Given the description of an element on the screen output the (x, y) to click on. 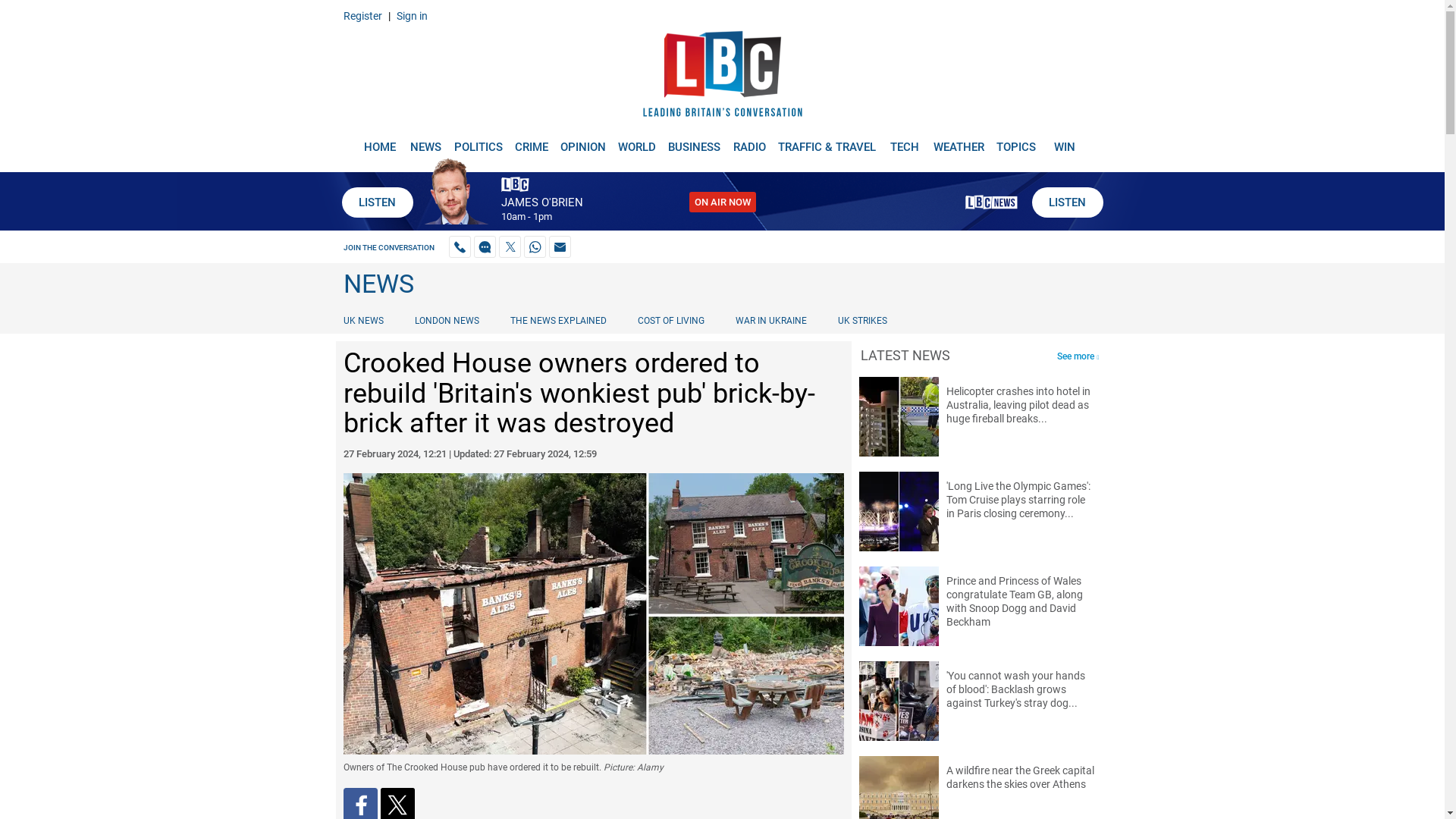
WIN (1064, 140)
NEWS (425, 140)
COST OF LIVING (670, 320)
UK NEWS (365, 320)
THE NEWS EXPLAINED (558, 320)
TOPICS (1016, 140)
TECH (904, 140)
Register (361, 15)
WAR IN UKRAINE (770, 320)
WORLD (636, 140)
